Given the description of an element on the screen output the (x, y) to click on. 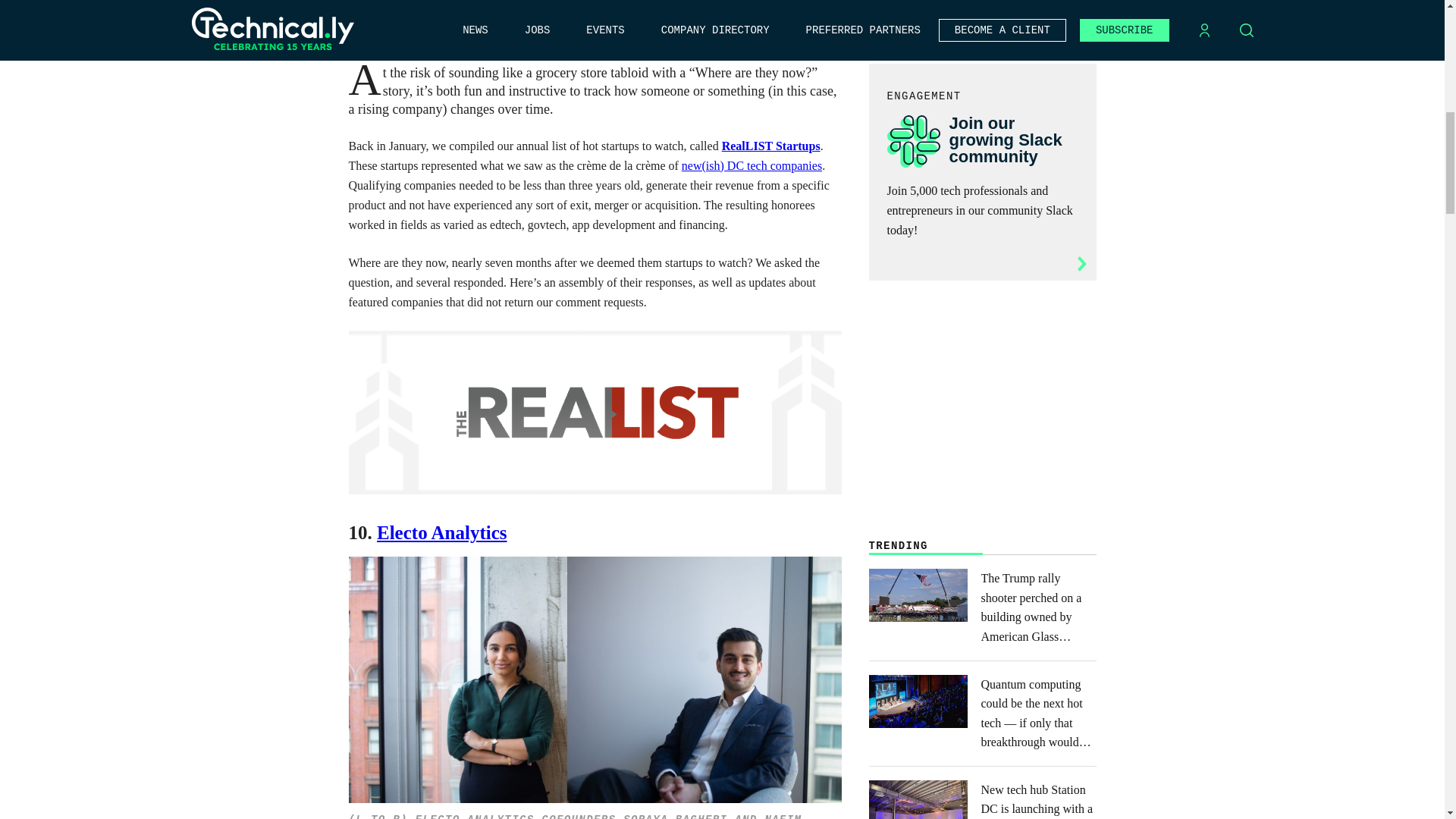
Electo Analytics (441, 532)
RealLIST Startups (771, 145)
